Given the description of an element on the screen output the (x, y) to click on. 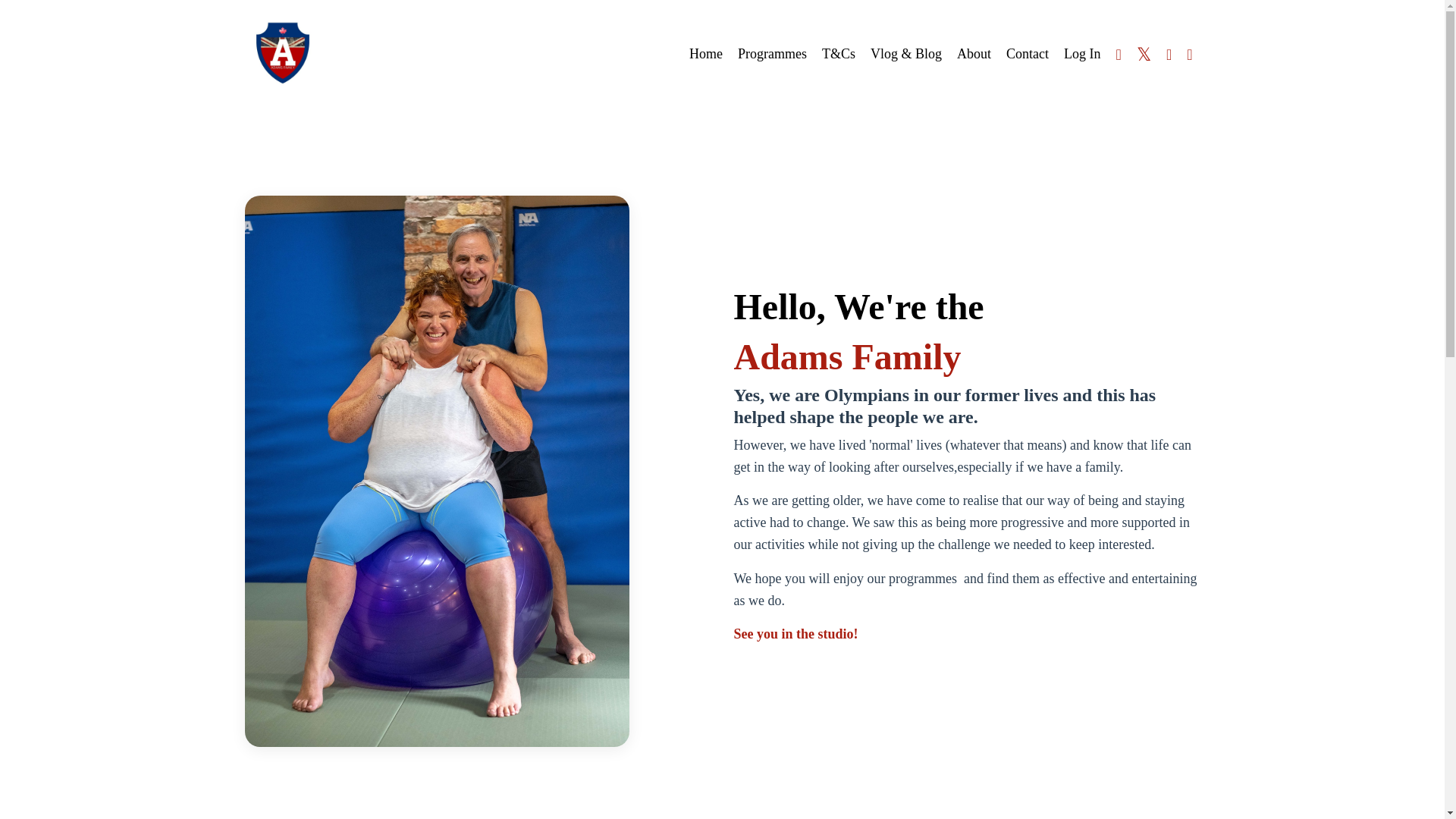
Log In (1082, 53)
Home (705, 54)
Programmes (772, 54)
About (973, 54)
Contact (1027, 54)
